Given the description of an element on the screen output the (x, y) to click on. 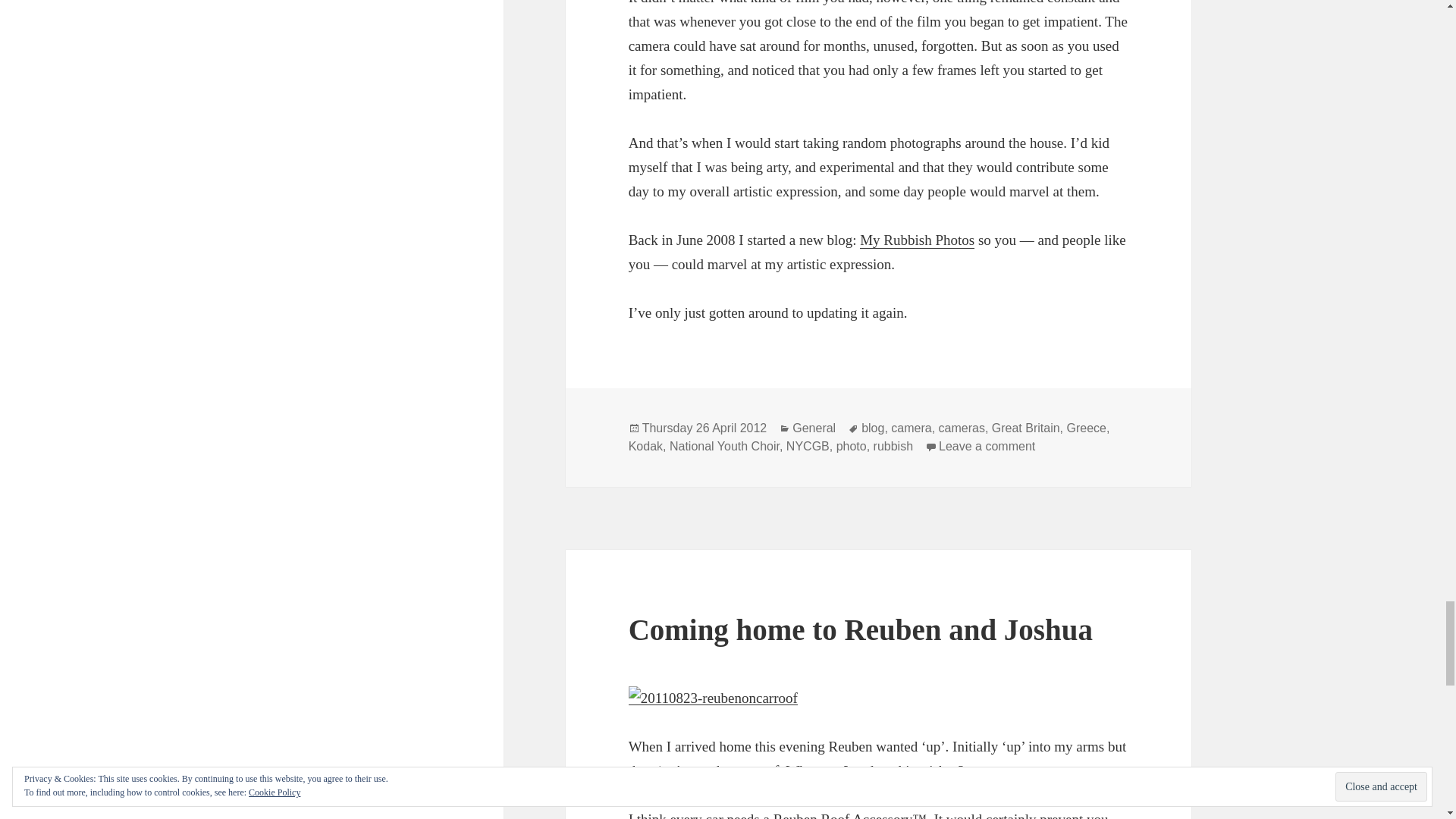
20110823-reubenoncarroof (712, 698)
